Given the description of an element on the screen output the (x, y) to click on. 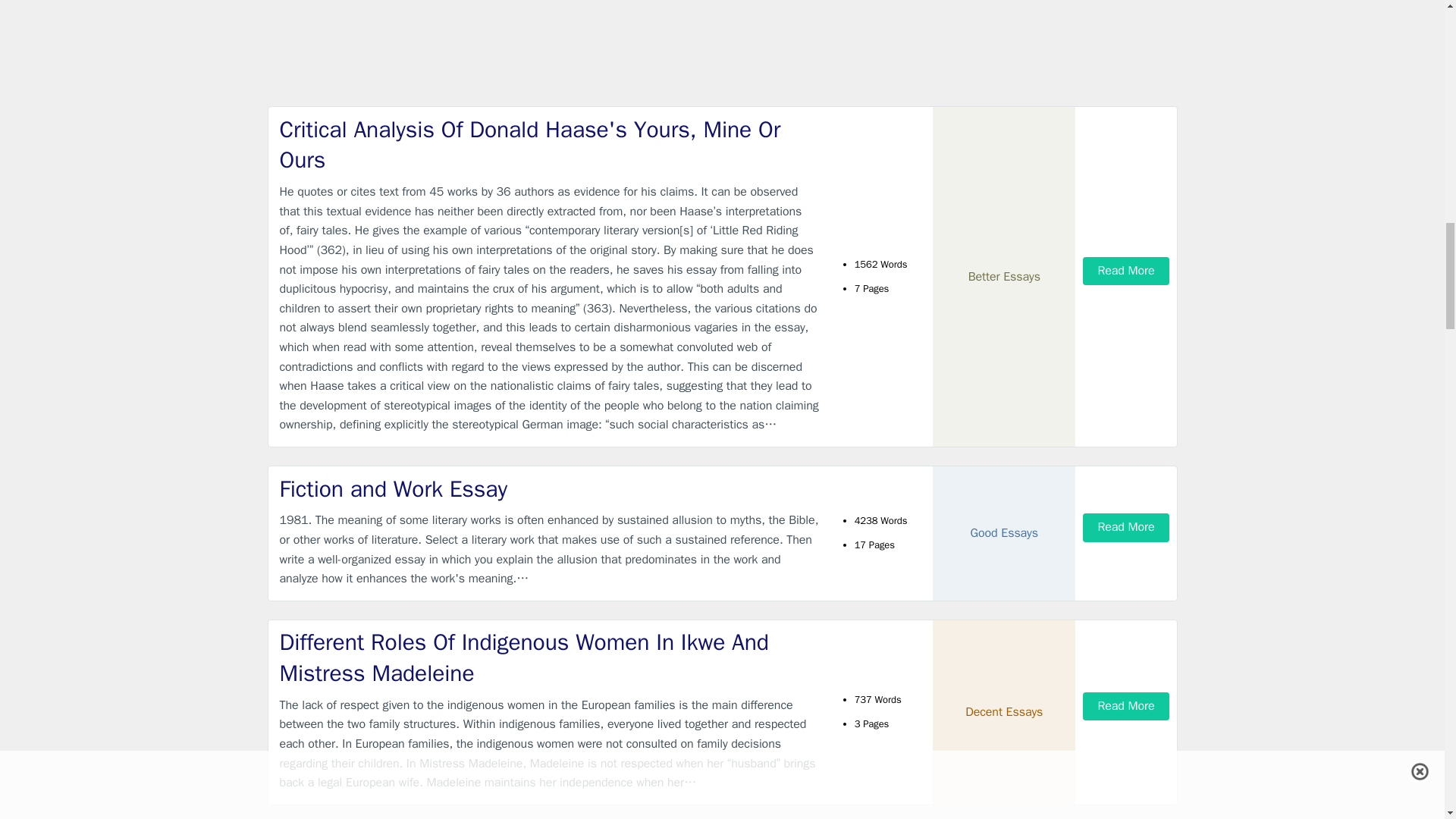
Critical Analysis Of Donald Haase's Yours, Mine Or Ours (548, 145)
Read More (1126, 706)
Read More (1126, 271)
Fiction and Work Essay (548, 489)
Read More (1126, 527)
